Given the description of an element on the screen output the (x, y) to click on. 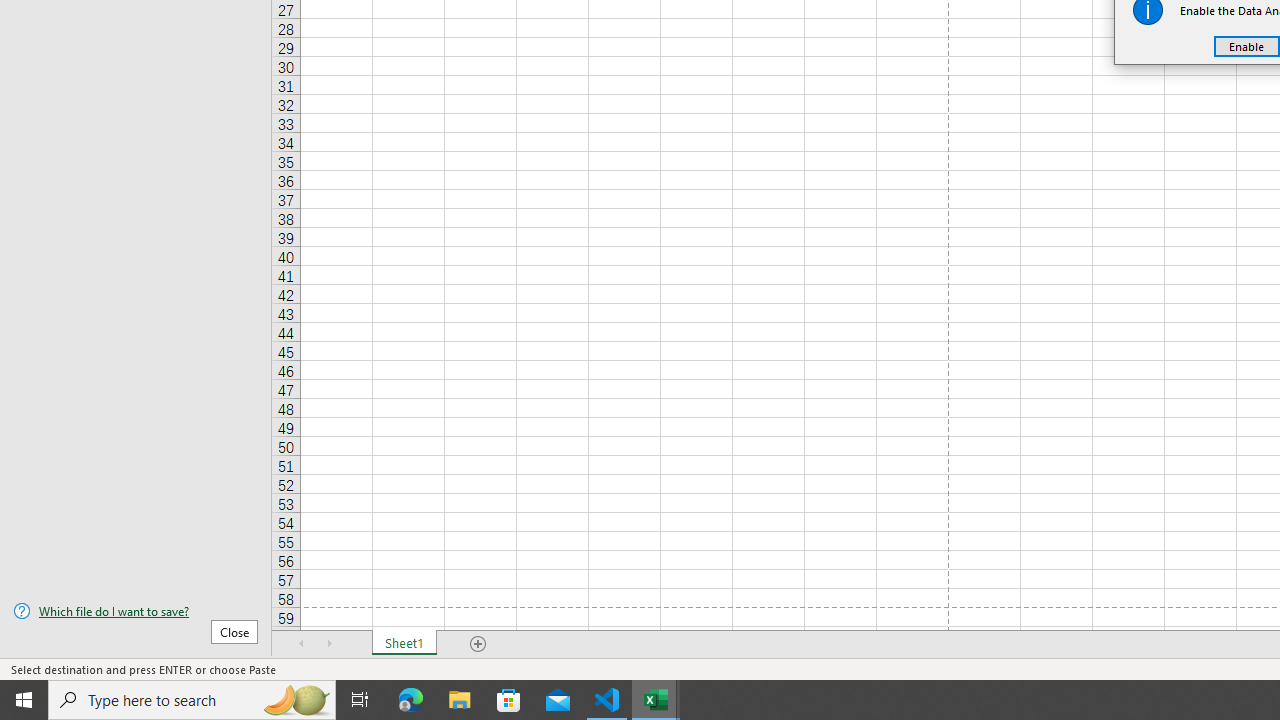
Excel - 2 running windows (656, 699)
